Given the description of an element on the screen output the (x, y) to click on. 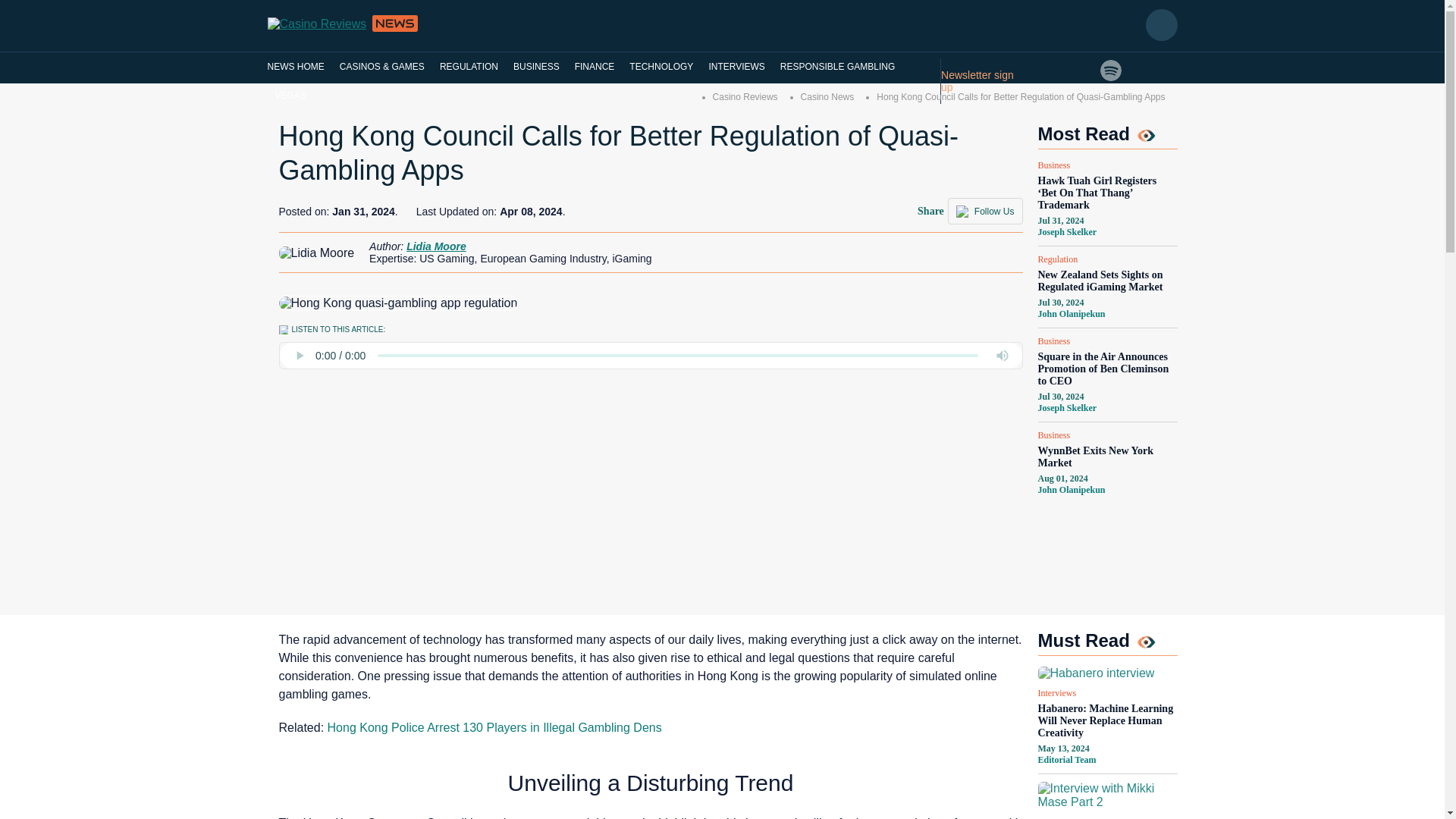
VEGAS (289, 95)
Facebook (1053, 91)
Spotify (1110, 70)
REGULATION (468, 66)
Newsletter sign up (983, 80)
Lidia Moore (435, 246)
LinkedIn (1082, 70)
John Olanipekun (1070, 489)
Joseph Skelker (1066, 407)
RESPONSIBLE GAMBLING (837, 66)
Casino News (827, 96)
Hong Kong Police Arrest 130 Players in Illegal Gambling Dens (494, 727)
TECHNOLOGY (660, 66)
WynnBet Exits New York Market (1106, 457)
